Given the description of an element on the screen output the (x, y) to click on. 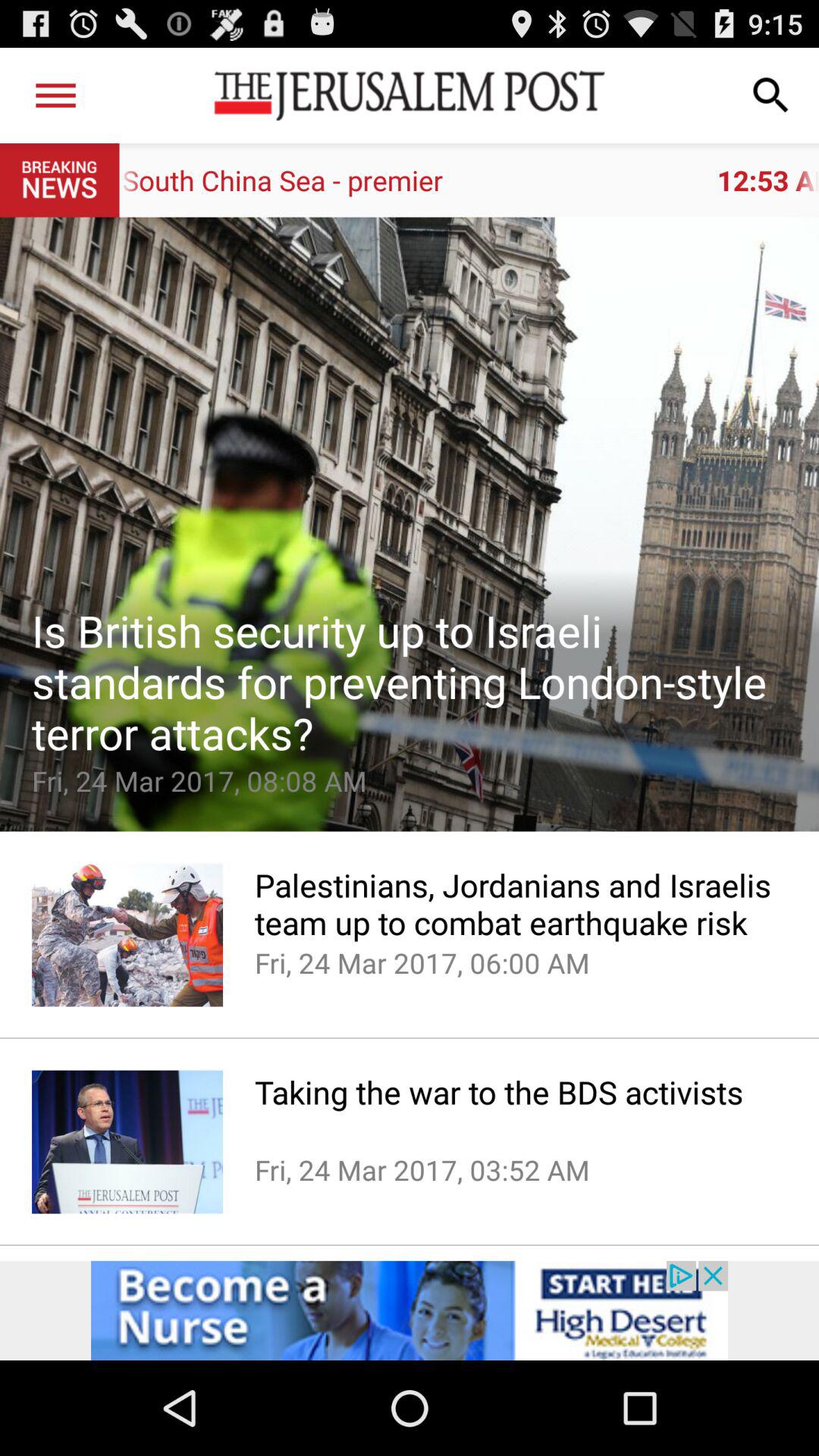
head line title news (409, 524)
